Given the description of an element on the screen output the (x, y) to click on. 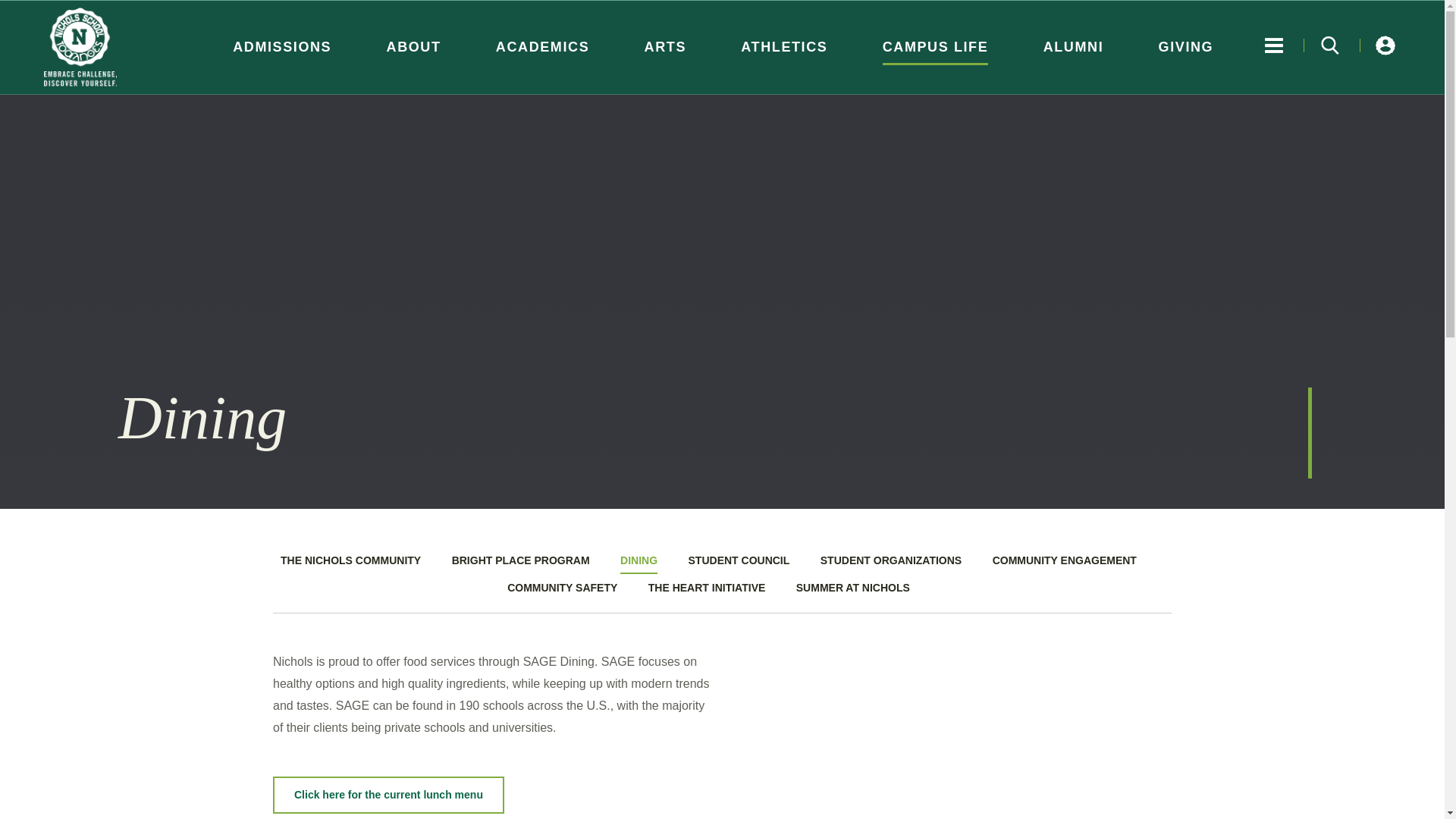
Go (1329, 45)
